Given the description of an element on the screen output the (x, y) to click on. 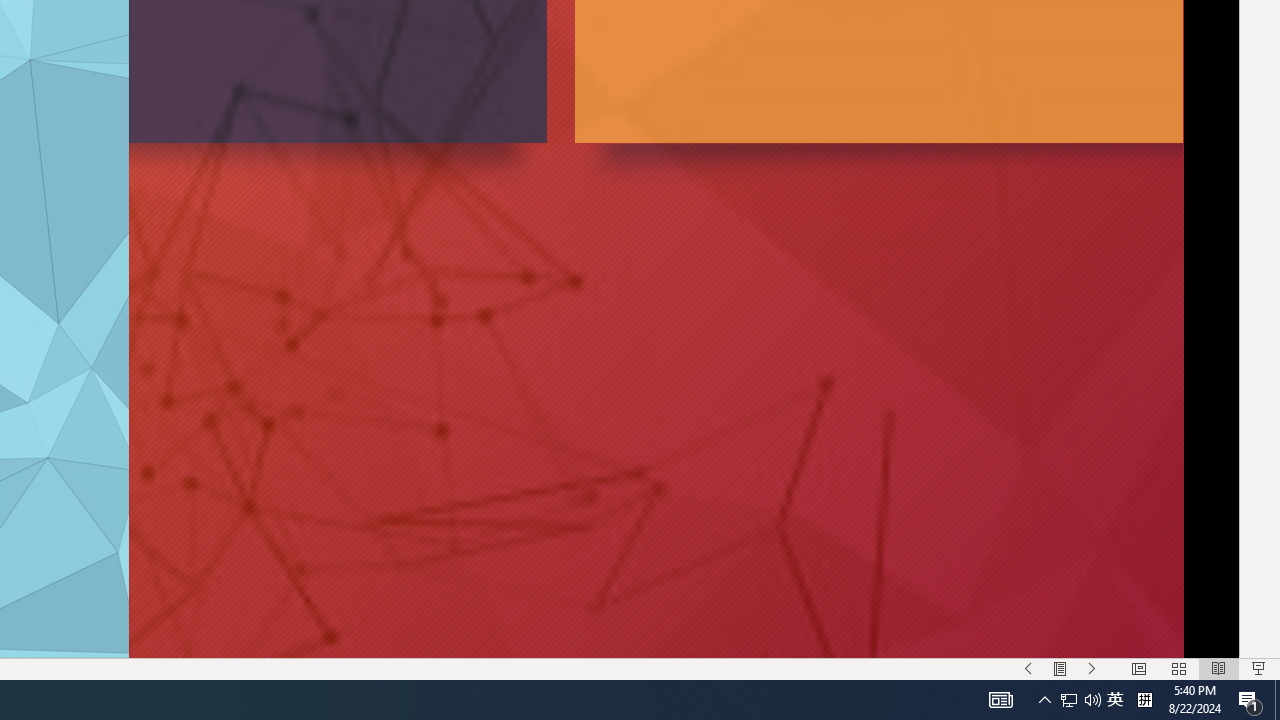
Slide Show Next On (1092, 668)
Menu On (1060, 668)
Slide Show Previous On (1028, 668)
